Given the description of an element on the screen output the (x, y) to click on. 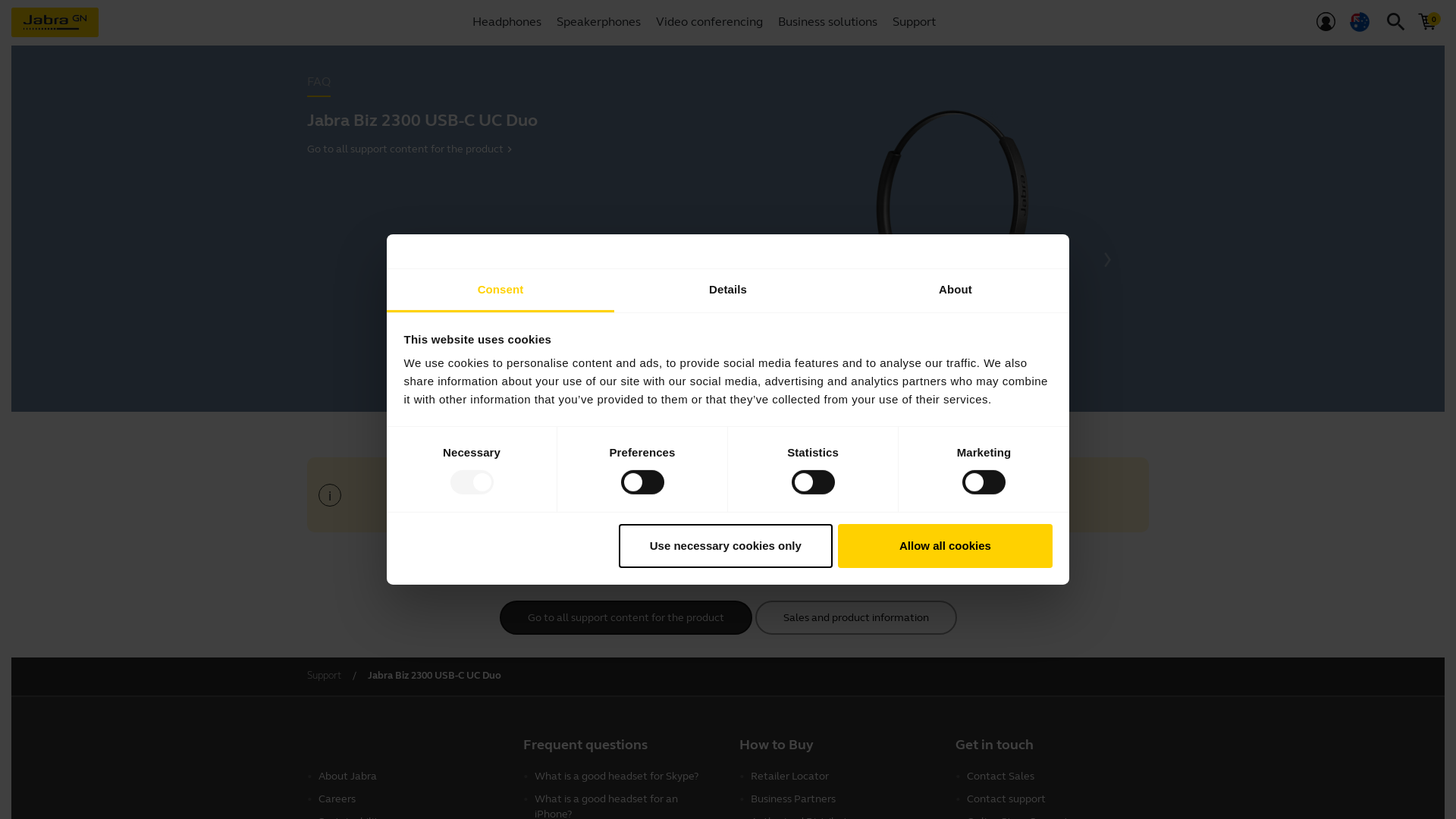
Retailer Locator Element type: text (841, 775)
About Element type: text (955, 290)
Previous Element type: text (782, 259)
Careers Element type: text (409, 798)
Details Element type: text (727, 290)
Support Element type: text (324, 676)
Consent Element type: text (500, 290)
Use necessary cookies only Element type: text (725, 545)
Allow all cookies Element type: text (944, 545)
Sales and product information Element type: text (856, 617)
What is a good headset for Skype? Element type: text (625, 775)
Go to all support content for the product Element type: text (624, 617)
About Jabra Element type: text (409, 775)
Business Partners Element type: text (841, 798)
Next Element type: text (1105, 259)
Contact Sales Element type: text (1057, 775)
Jabra Biz 2300 USB-C UC Duo Element type: text (434, 676)
Go to all support content for the productchevron_right Element type: text (511, 149)
Contact support Element type: text (1057, 798)
